Given the description of an element on the screen output the (x, y) to click on. 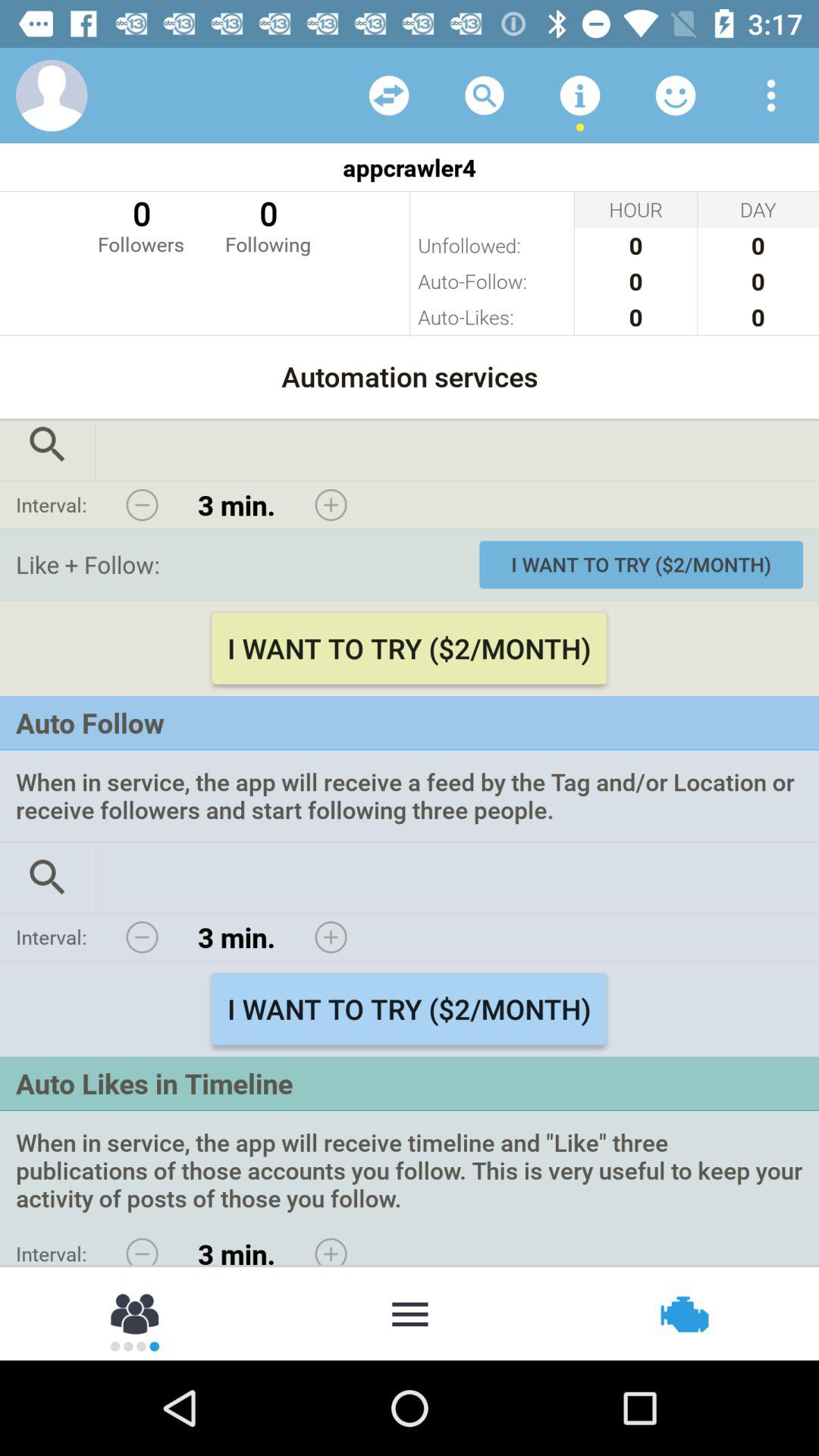
more informations (579, 95)
